Given the description of an element on the screen output the (x, y) to click on. 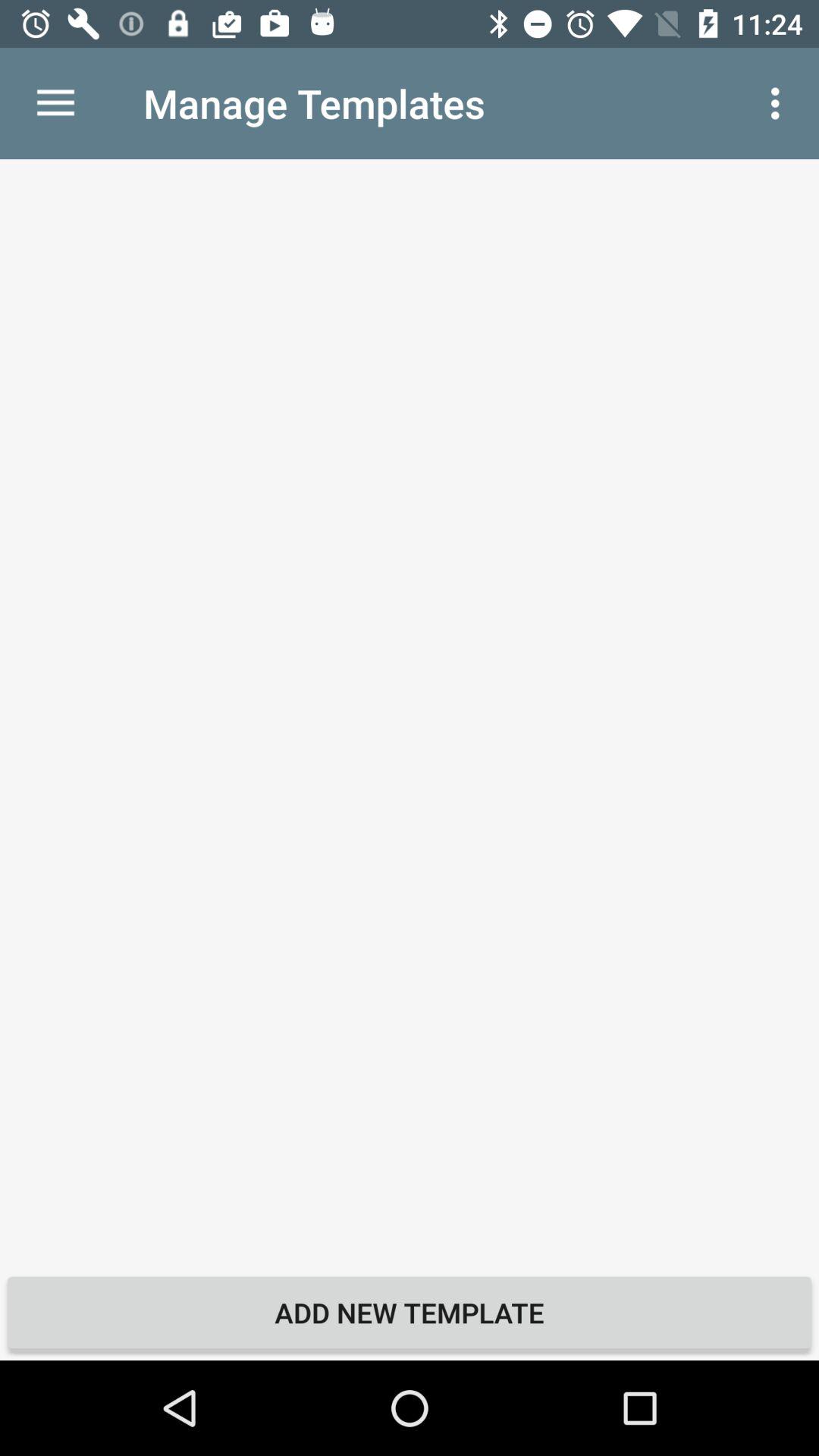
jump to add new template icon (409, 1312)
